Given the description of an element on the screen output the (x, y) to click on. 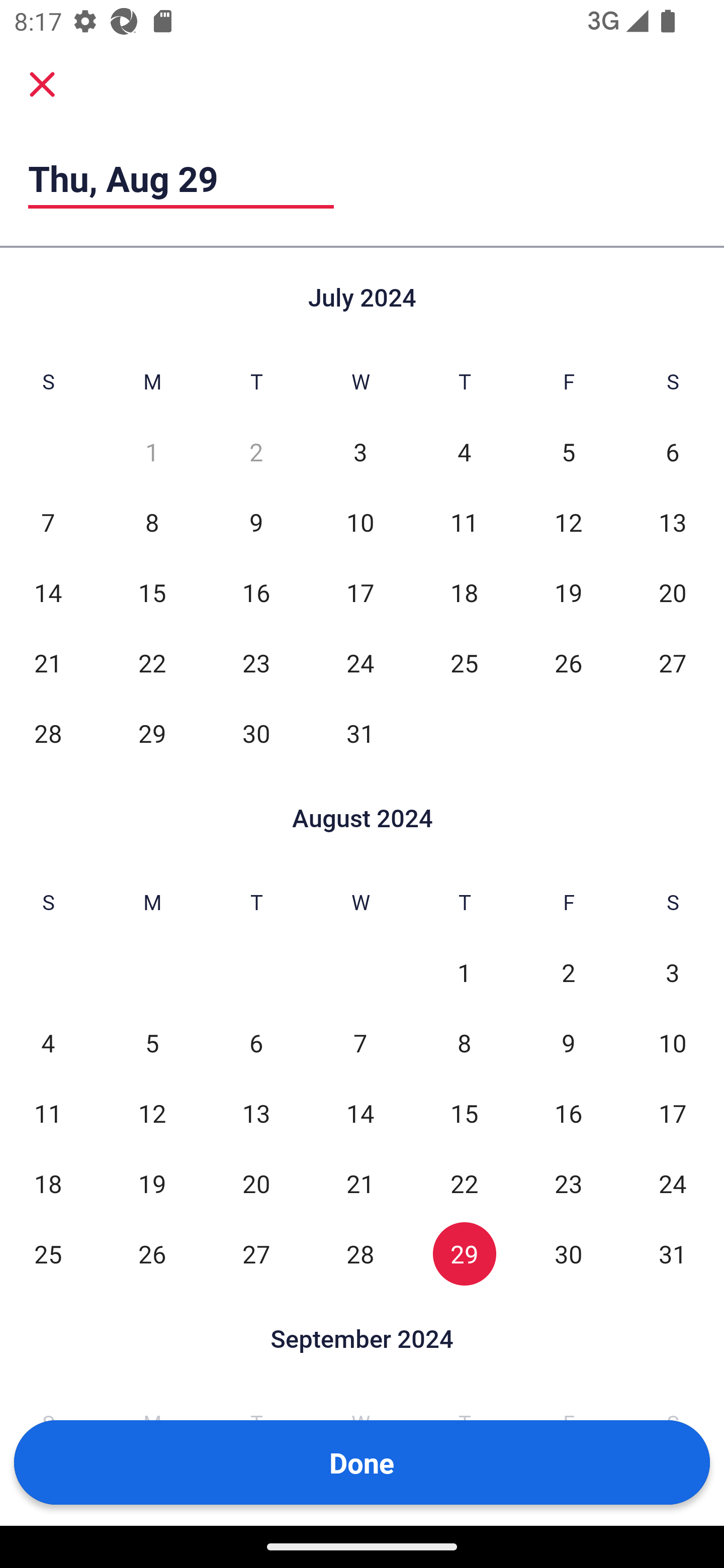
Cancel (41, 83)
Thu, Aug 29 (180, 178)
1 Mon, Jul 1, Not Selected (152, 452)
2 Tue, Jul 2, Not Selected (256, 452)
3 Wed, Jul 3, Not Selected (360, 452)
4 Thu, Jul 4, Not Selected (464, 452)
5 Fri, Jul 5, Not Selected (568, 452)
6 Sat, Jul 6, Not Selected (672, 452)
7 Sun, Jul 7, Not Selected (48, 521)
8 Mon, Jul 8, Not Selected (152, 521)
9 Tue, Jul 9, Not Selected (256, 521)
10 Wed, Jul 10, Not Selected (360, 521)
11 Thu, Jul 11, Not Selected (464, 521)
12 Fri, Jul 12, Not Selected (568, 521)
13 Sat, Jul 13, Not Selected (672, 521)
14 Sun, Jul 14, Not Selected (48, 591)
15 Mon, Jul 15, Not Selected (152, 591)
16 Tue, Jul 16, Not Selected (256, 591)
17 Wed, Jul 17, Not Selected (360, 591)
18 Thu, Jul 18, Not Selected (464, 591)
19 Fri, Jul 19, Not Selected (568, 591)
20 Sat, Jul 20, Not Selected (672, 591)
21 Sun, Jul 21, Not Selected (48, 662)
22 Mon, Jul 22, Not Selected (152, 662)
23 Tue, Jul 23, Not Selected (256, 662)
24 Wed, Jul 24, Not Selected (360, 662)
25 Thu, Jul 25, Not Selected (464, 662)
26 Fri, Jul 26, Not Selected (568, 662)
27 Sat, Jul 27, Not Selected (672, 662)
28 Sun, Jul 28, Not Selected (48, 732)
29 Mon, Jul 29, Not Selected (152, 732)
30 Tue, Jul 30, Not Selected (256, 732)
31 Wed, Jul 31, Not Selected (360, 732)
1 Thu, Aug 1, Not Selected (464, 972)
2 Fri, Aug 2, Not Selected (568, 972)
3 Sat, Aug 3, Not Selected (672, 972)
4 Sun, Aug 4, Not Selected (48, 1043)
5 Mon, Aug 5, Not Selected (152, 1043)
6 Tue, Aug 6, Not Selected (256, 1043)
7 Wed, Aug 7, Not Selected (360, 1043)
8 Thu, Aug 8, Not Selected (464, 1043)
9 Fri, Aug 9, Not Selected (568, 1043)
10 Sat, Aug 10, Not Selected (672, 1043)
11 Sun, Aug 11, Not Selected (48, 1112)
12 Mon, Aug 12, Not Selected (152, 1112)
13 Tue, Aug 13, Not Selected (256, 1112)
14 Wed, Aug 14, Not Selected (360, 1112)
15 Thu, Aug 15, Not Selected (464, 1112)
16 Fri, Aug 16, Not Selected (568, 1112)
17 Sat, Aug 17, Not Selected (672, 1112)
18 Sun, Aug 18, Not Selected (48, 1182)
19 Mon, Aug 19, Not Selected (152, 1182)
20 Tue, Aug 20, Not Selected (256, 1182)
21 Wed, Aug 21, Not Selected (360, 1182)
22 Thu, Aug 22, Not Selected (464, 1182)
23 Fri, Aug 23, Not Selected (568, 1182)
24 Sat, Aug 24, Not Selected (672, 1182)
25 Sun, Aug 25, Not Selected (48, 1253)
26 Mon, Aug 26, Not Selected (152, 1253)
27 Tue, Aug 27, Not Selected (256, 1253)
28 Wed, Aug 28, Not Selected (360, 1253)
29 Thu, Aug 29, Selected (464, 1253)
30 Fri, Aug 30, Not Selected (568, 1253)
31 Sat, Aug 31, Not Selected (672, 1253)
Done Button Done (361, 1462)
